Given the description of an element on the screen output the (x, y) to click on. 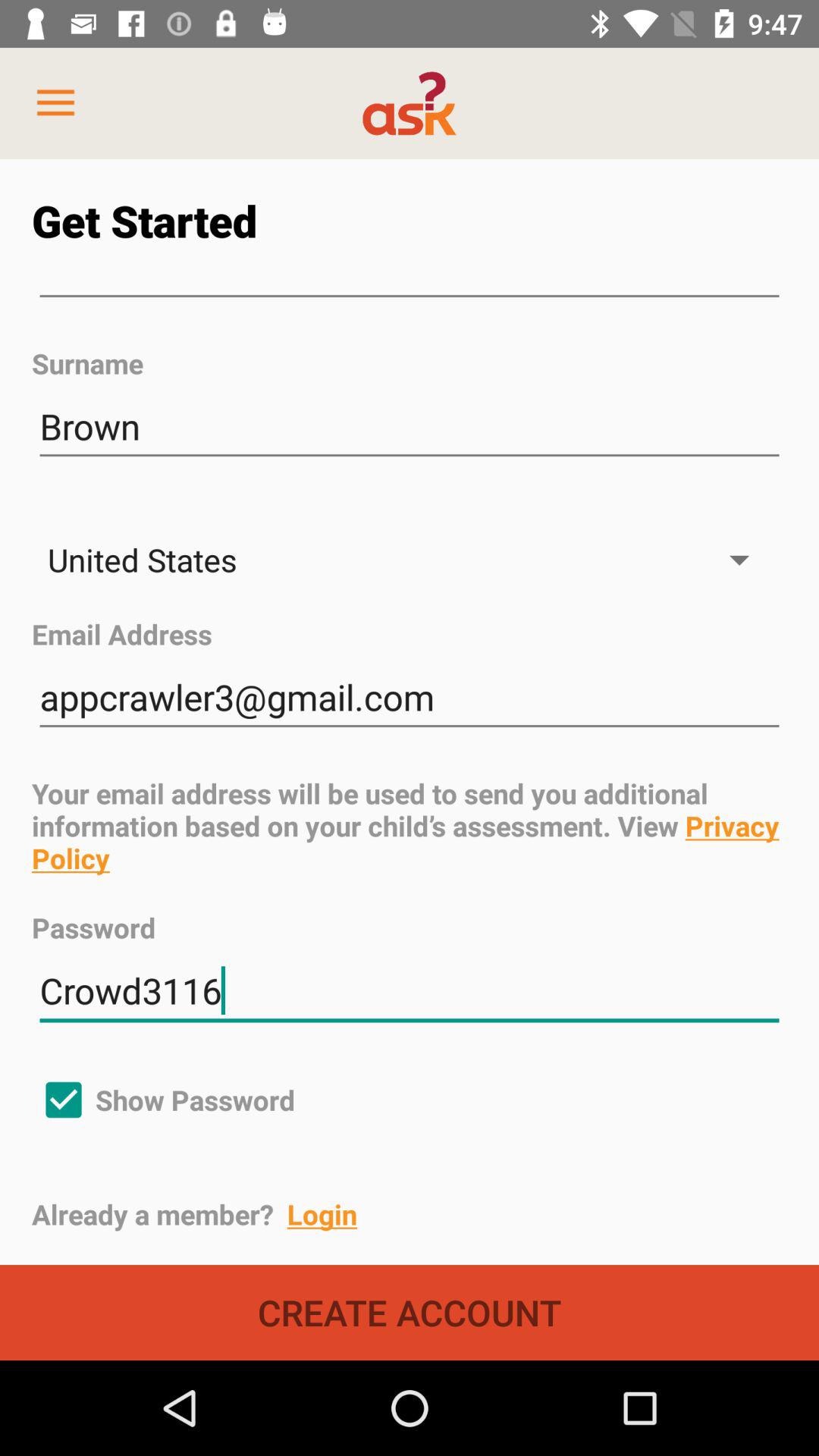
open the already a member (425, 1214)
